Given the description of an element on the screen output the (x, y) to click on. 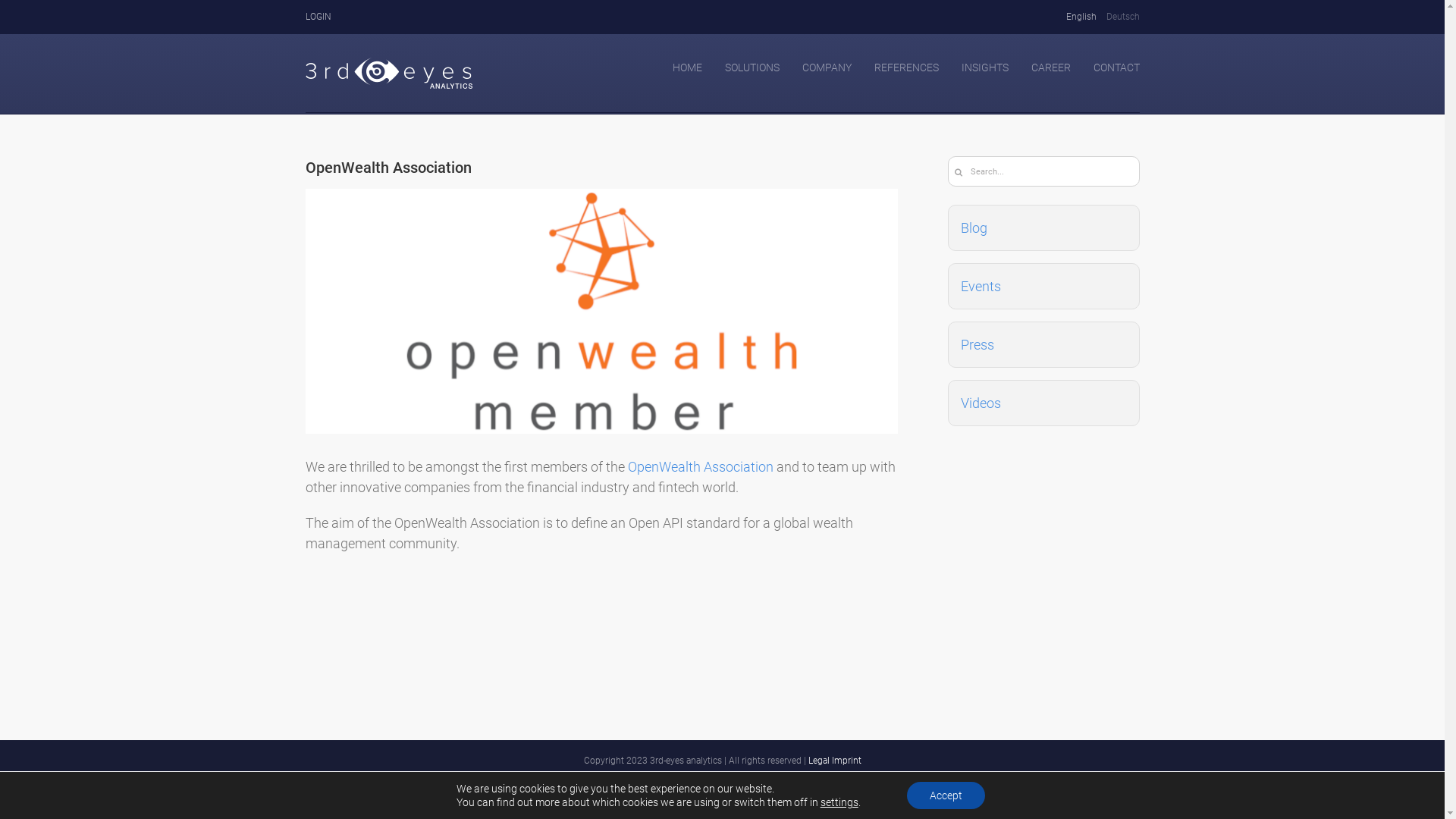
HOME Element type: text (686, 65)
CONTACT Element type: text (1116, 65)
Blog Element type: text (973, 227)
CAREER Element type: text (1050, 65)
COMPANY Element type: text (826, 65)
View Larger Image Element type: text (600, 310)
settings Element type: text (839, 802)
Press Element type: text (976, 344)
REFERENCES Element type: text (905, 65)
LinkedIn Element type: text (721, 793)
Videos Element type: text (980, 403)
Events Element type: text (980, 286)
INSIGHTS Element type: text (984, 65)
Deutsch Element type: text (1117, 16)
OpenWealth Association Element type: text (700, 466)
SOLUTIONS Element type: text (751, 65)
LOGIN Element type: text (317, 16)
Legal Imprint Element type: text (834, 760)
English Element type: text (1075, 16)
Accept Element type: text (945, 795)
